Given the description of an element on the screen output the (x, y) to click on. 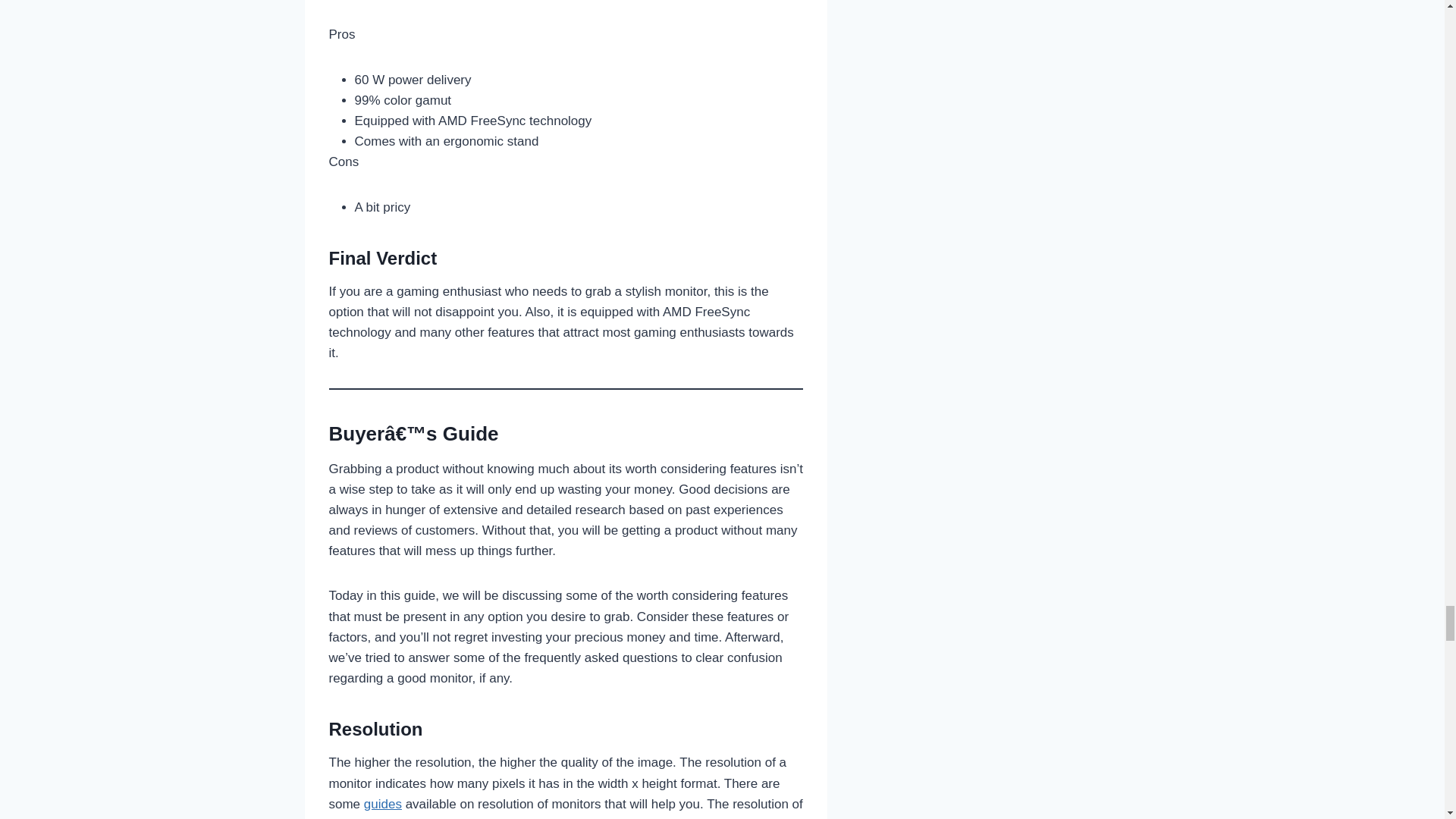
guides (382, 803)
